Given the description of an element on the screen output the (x, y) to click on. 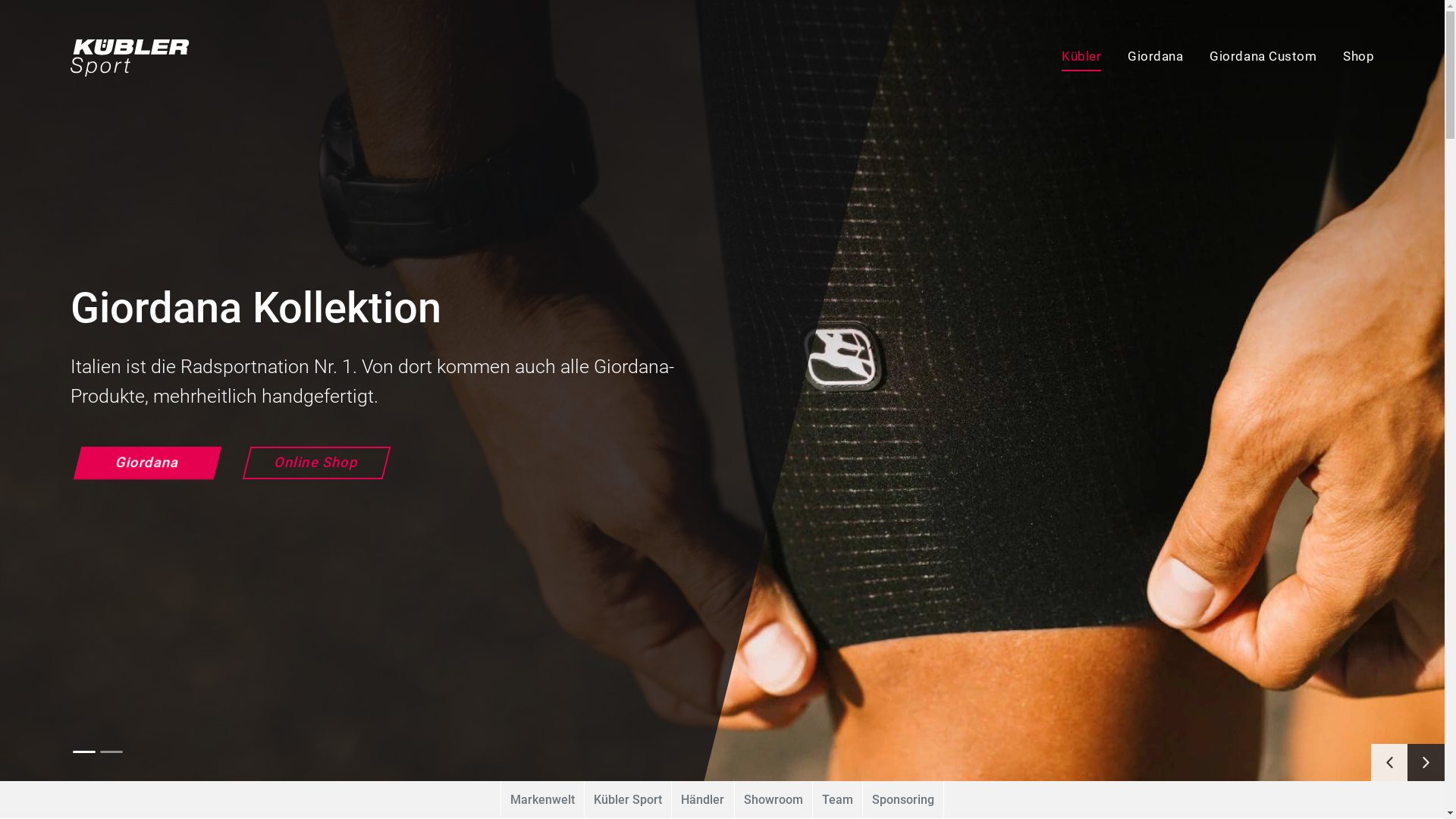
Online Shop Element type: text (311, 462)
Giordana Custom Element type: text (1250, 57)
Giordana Element type: text (142, 462)
Giordana Element type: text (1142, 57)
Shop Element type: text (1345, 57)
Next Element type: text (1425, 762)
Previous Element type: text (1389, 762)
